Given the description of an element on the screen output the (x, y) to click on. 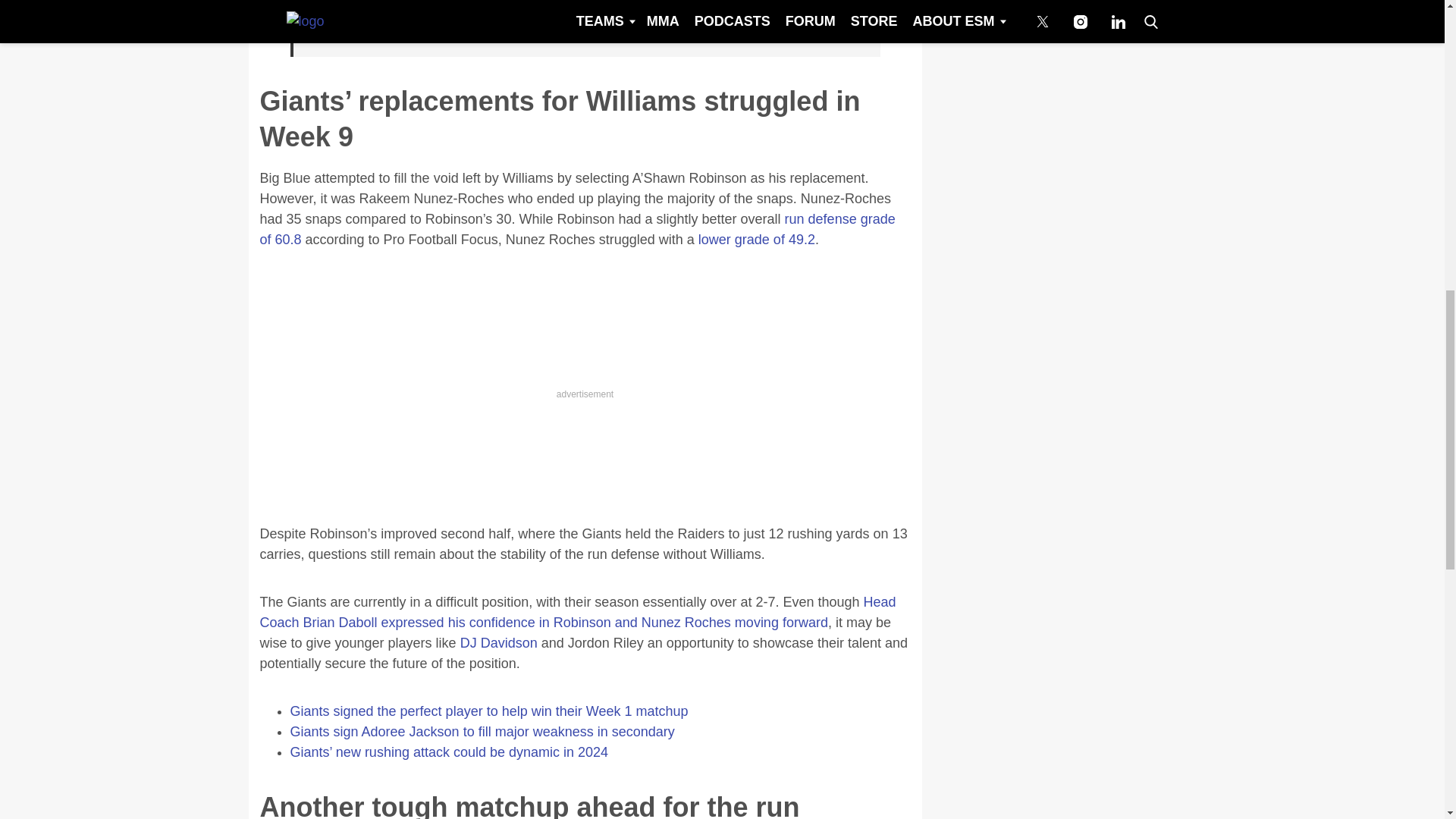
run defense grade of 60.8 (577, 229)
November 5, 2023 (519, 35)
DJ Davidson (497, 642)
lower grade of 49.2 (756, 239)
